Given the description of an element on the screen output the (x, y) to click on. 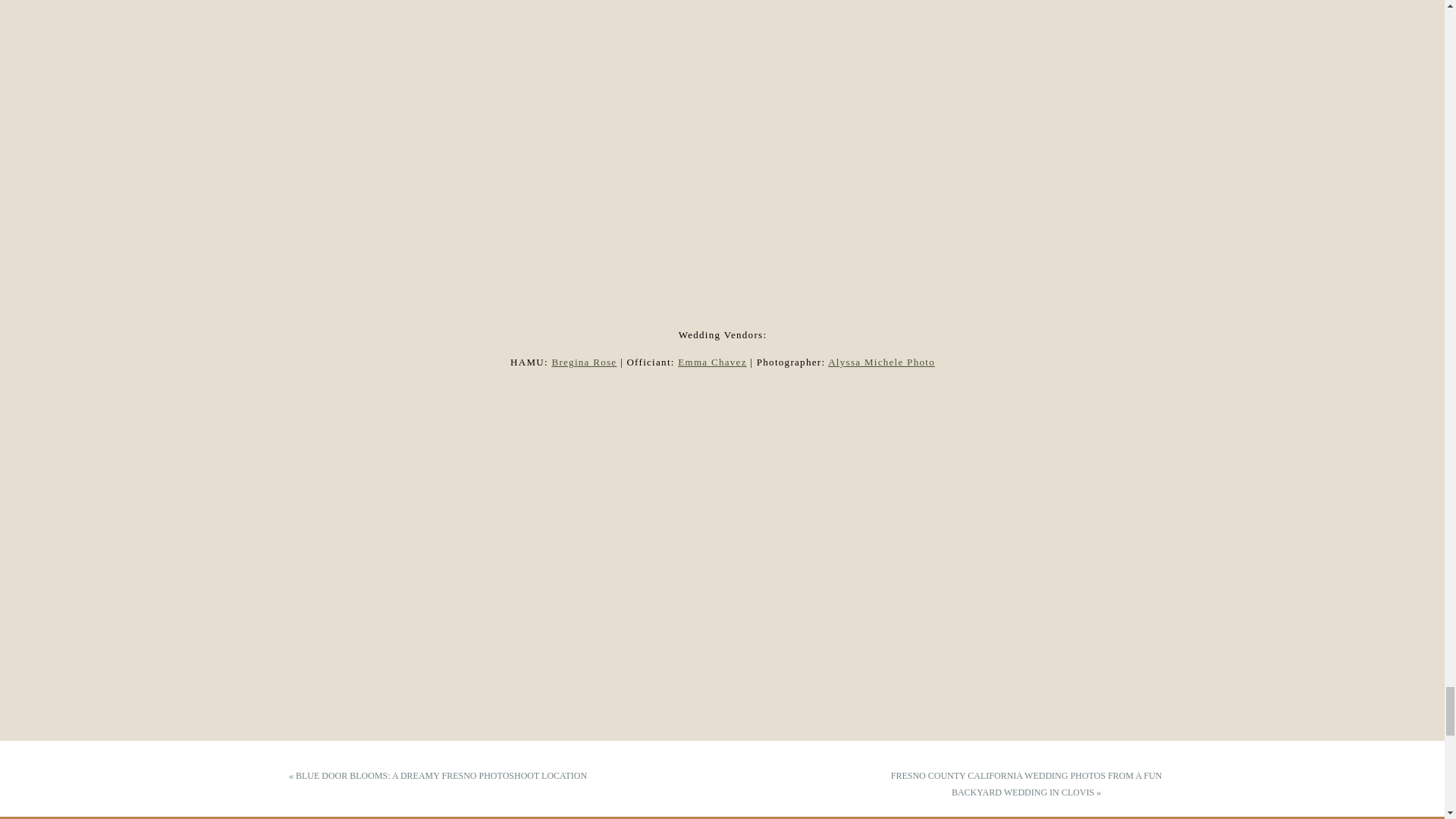
Emma Chavez (711, 361)
Bregina Rose (583, 361)
BLUE DOOR BLOOMS: A DREAMY FRESNO PHOTOSHOOT LOCATION (440, 775)
Alyssa Michele Photo (881, 361)
